Given the description of an element on the screen output the (x, y) to click on. 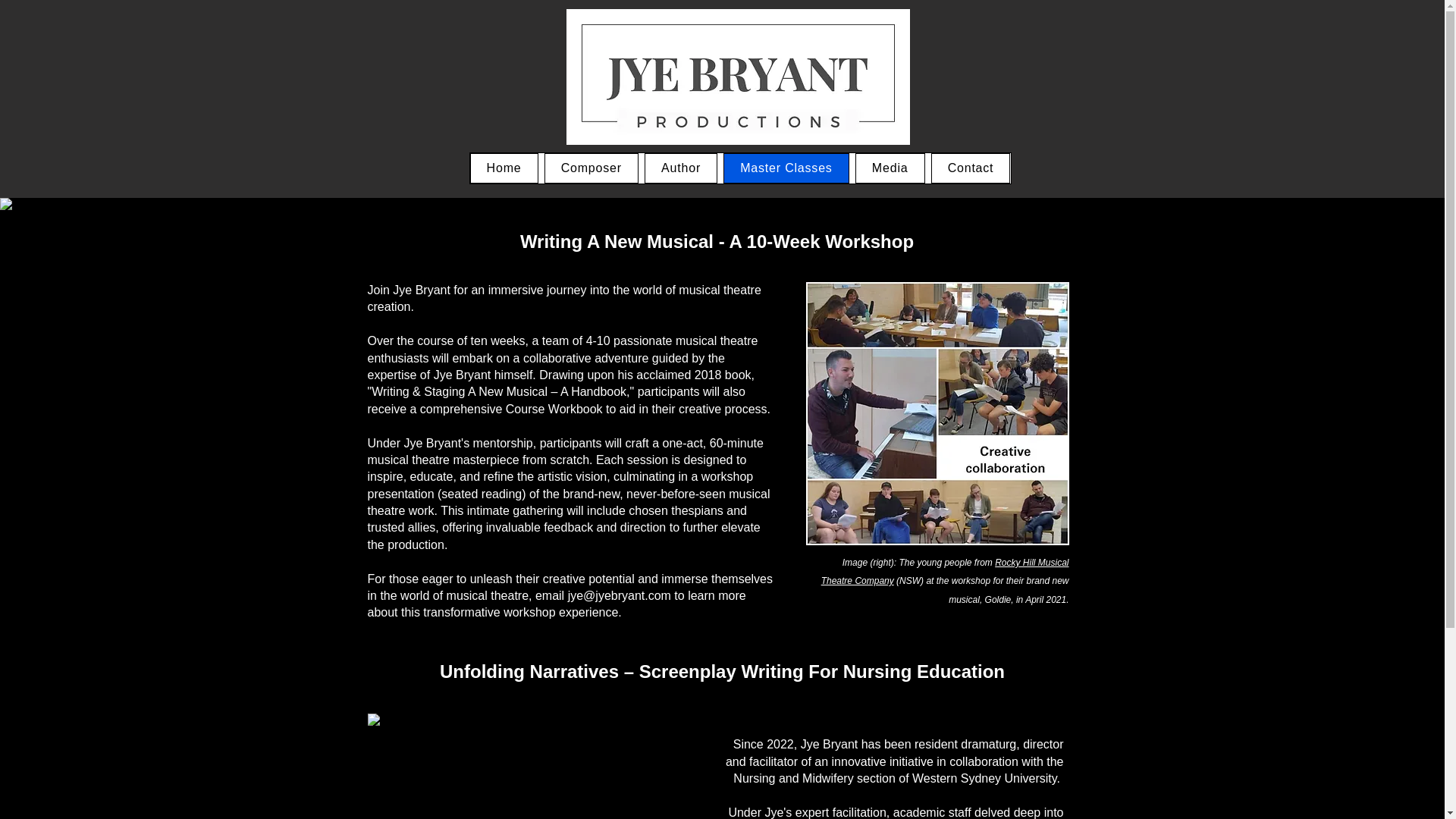
Media (890, 168)
Master Classes (785, 168)
Rocky Hill Musical Theatre Company (944, 571)
Home (504, 168)
Composer (591, 168)
Contact (970, 168)
Author (681, 168)
